Given the description of an element on the screen output the (x, y) to click on. 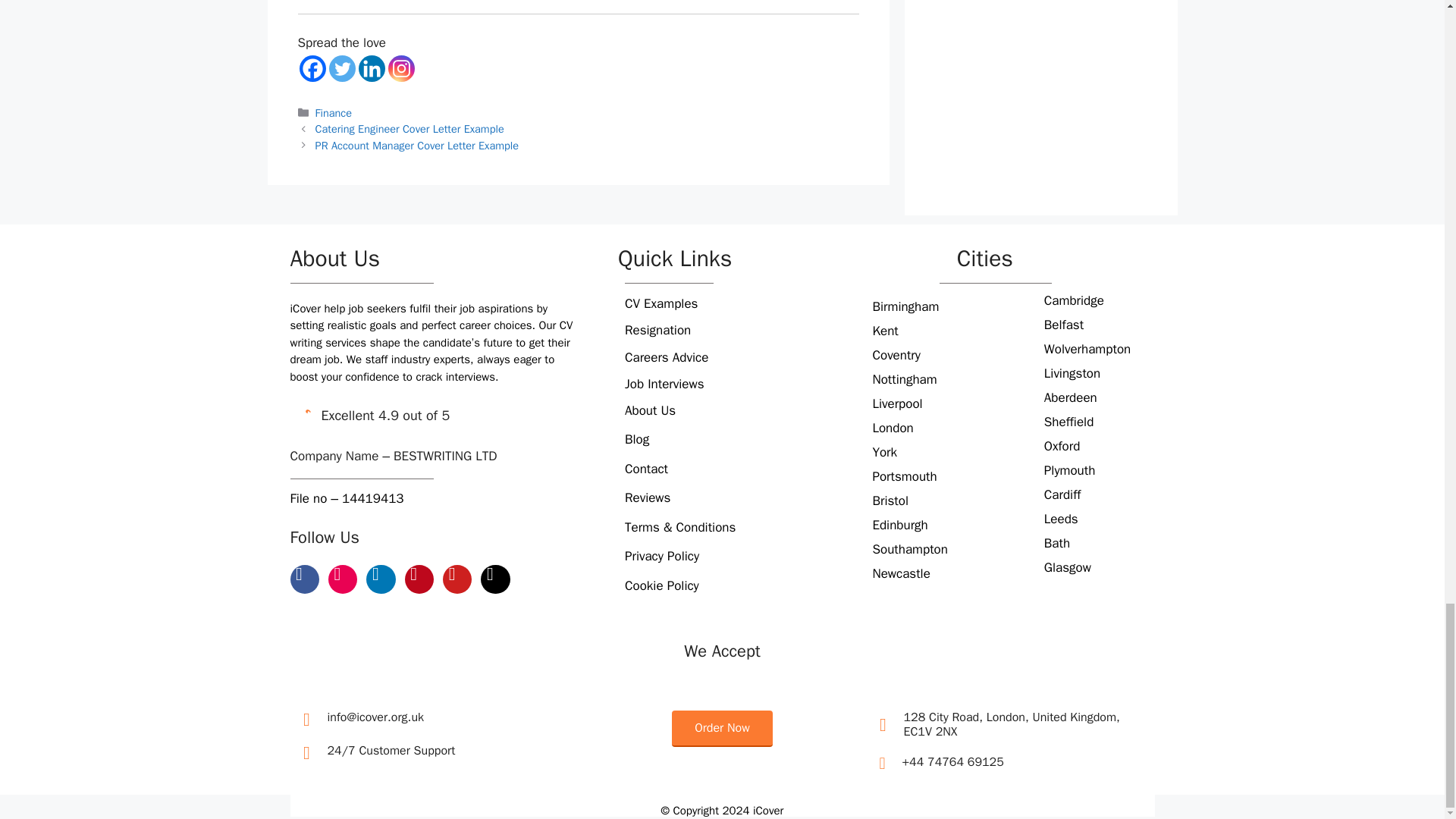
Twitter (342, 68)
Next (416, 145)
Facebook (311, 68)
Linkedin (371, 68)
Instagram (401, 68)
Previous (409, 128)
